Given the description of an element on the screen output the (x, y) to click on. 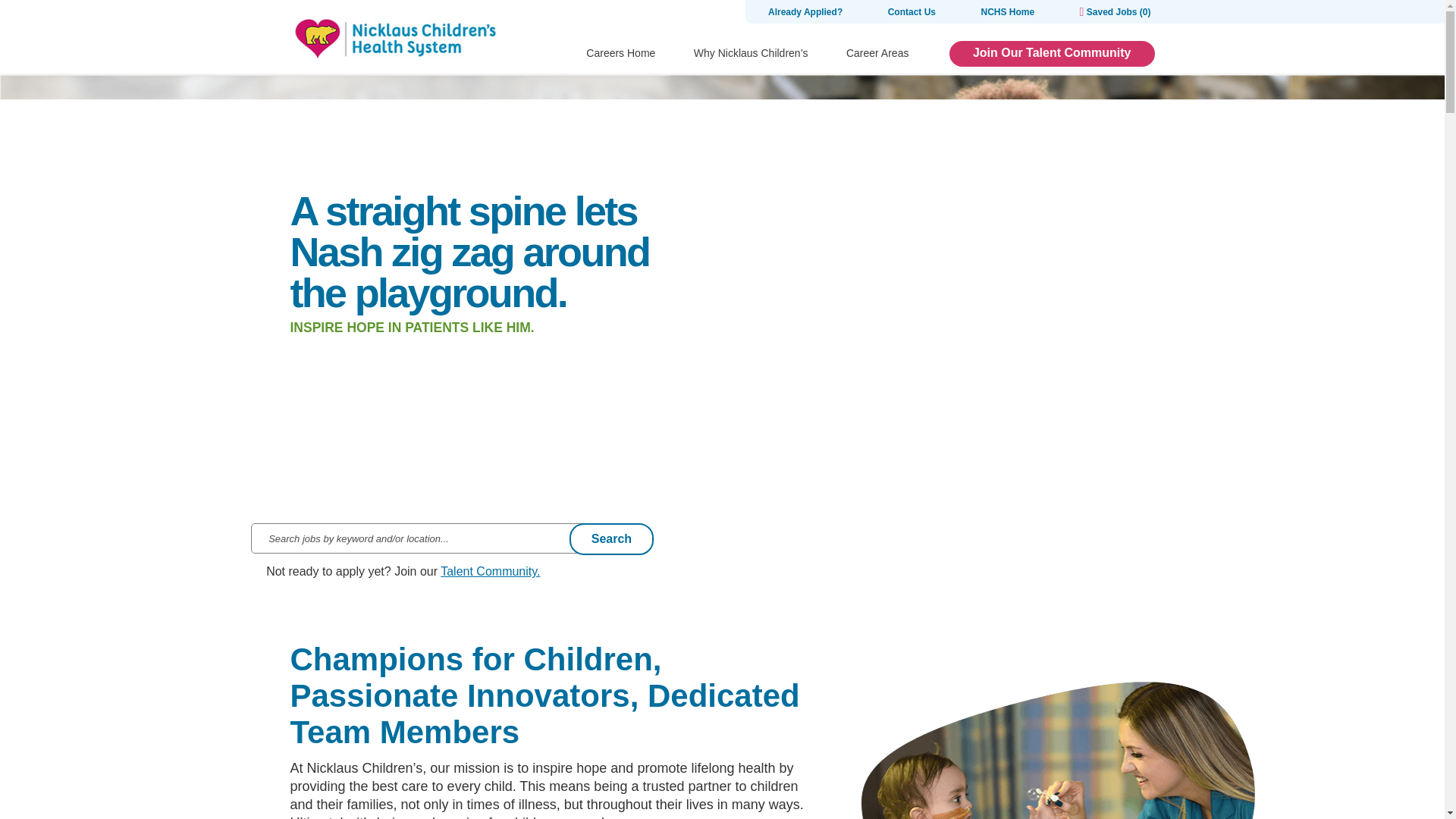
Talent Community. (490, 571)
Contact Us (912, 11)
Search (611, 538)
Join Our Talent Community (1051, 53)
Already Applied? (805, 11)
Careers Home (620, 52)
Career Areas (876, 52)
NCHS Home (1006, 11)
